Given the description of an element on the screen output the (x, y) to click on. 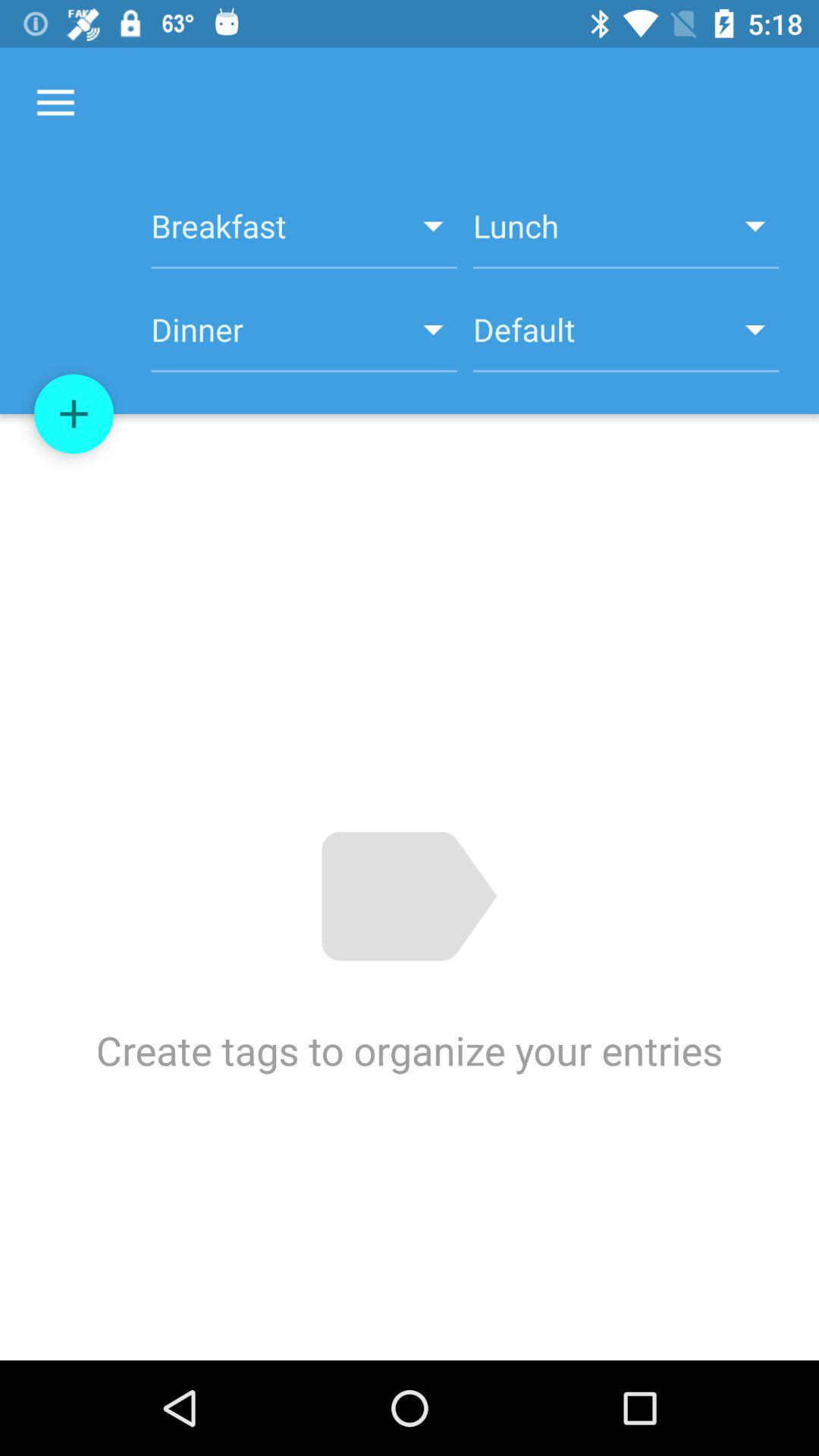
turn off the dinner (304, 338)
